Given the description of an element on the screen output the (x, y) to click on. 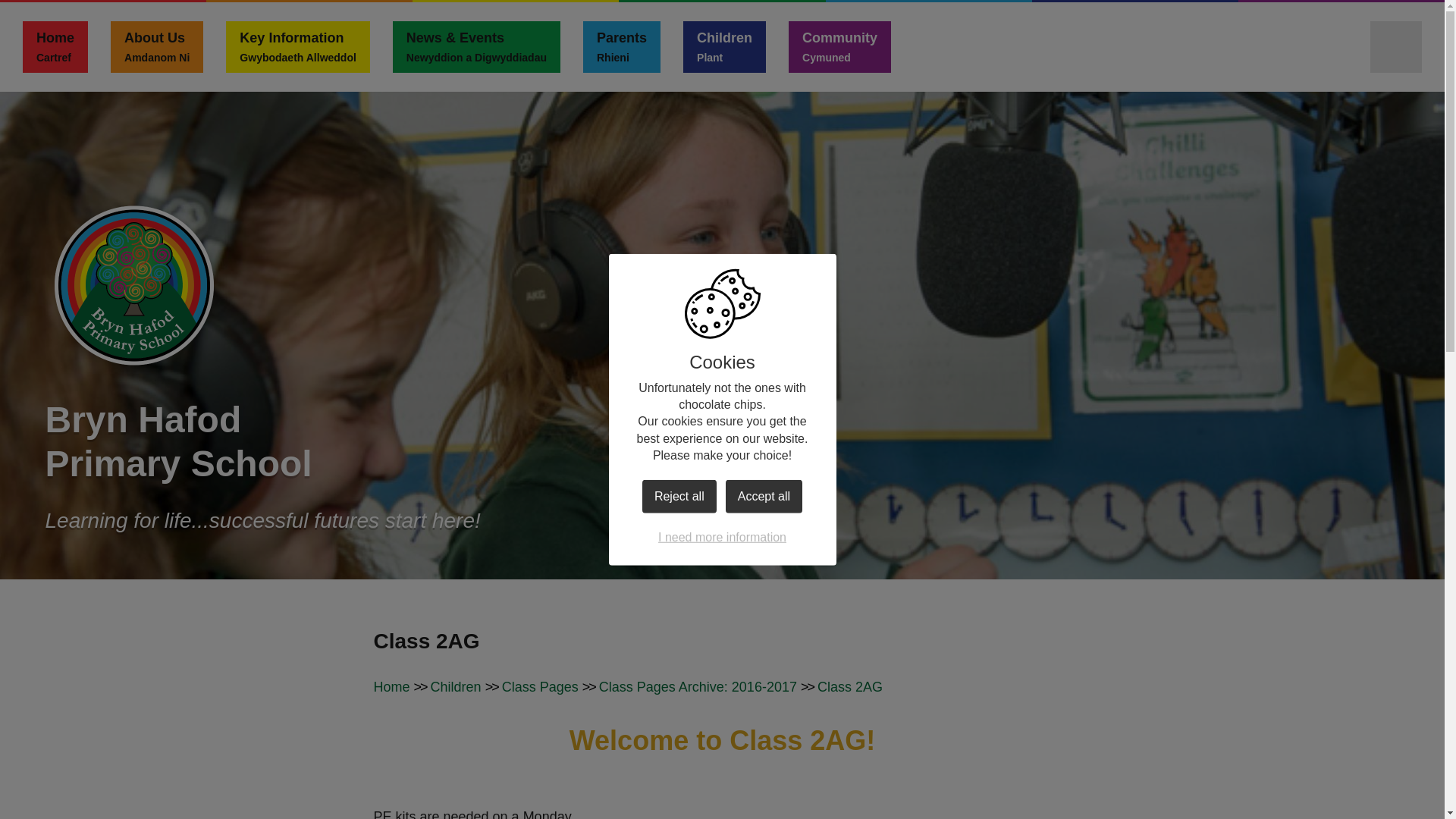
Home Page (297, 46)
